Given the description of an element on the screen output the (x, y) to click on. 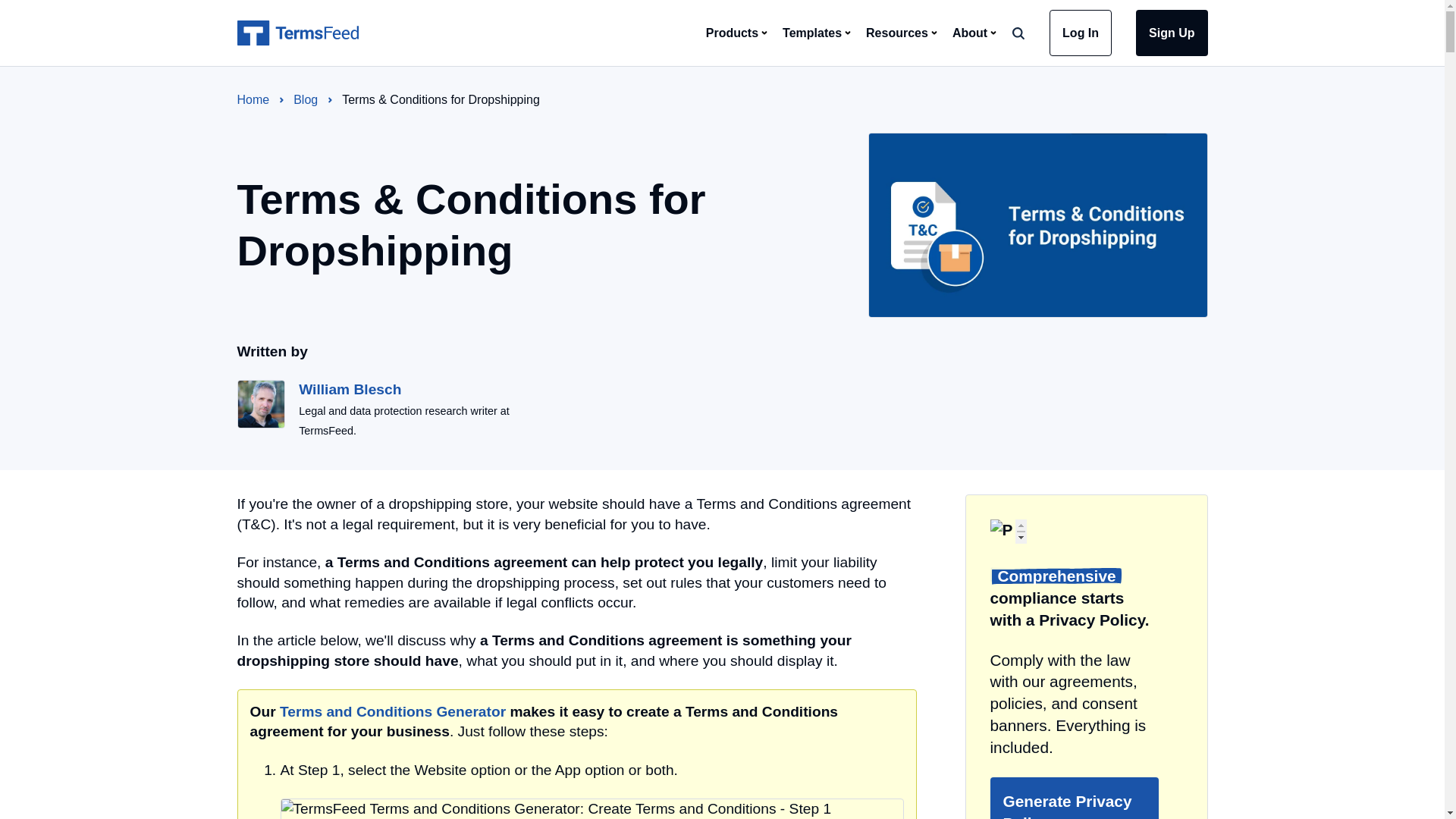
Products (732, 32)
Resources (897, 32)
TermsFeed (296, 32)
About (969, 32)
Resources (897, 32)
Templates (812, 32)
